Given the description of an element on the screen output the (x, y) to click on. 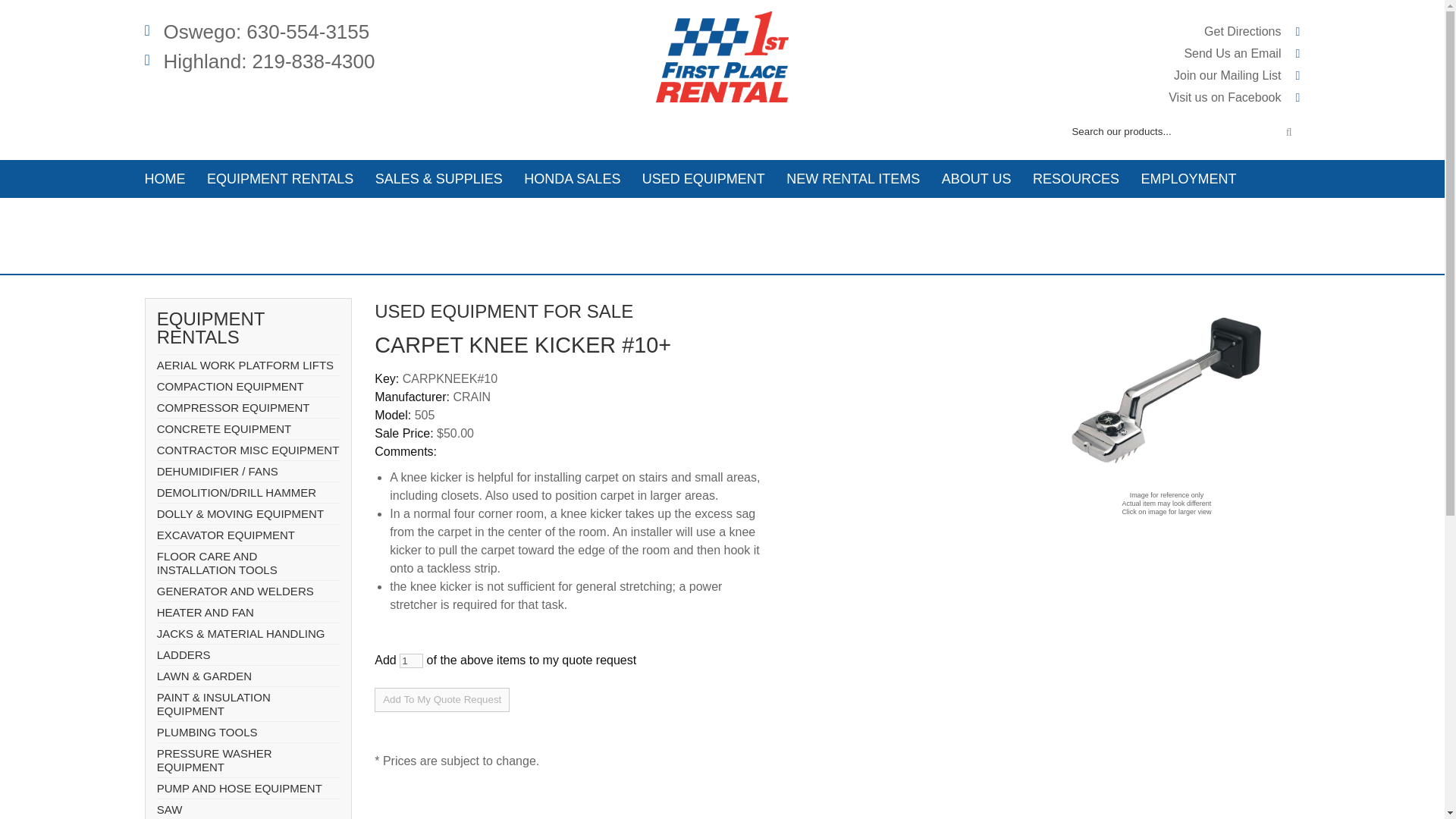
Highland: 219-838-4300 (259, 60)
Tel: 630-554-3155 (256, 31)
LADDERS (248, 654)
PLUMBING TOOLS (248, 731)
Contact Us (181, 216)
NEW RENTAL ITEMS (852, 178)
Job Openings at First Place Rental (1187, 178)
EXCAVATOR EQUIPMENT (248, 535)
FLOOR CARE AND INSTALLATION TOOLS (248, 563)
First Place Rental Feedback Form (1232, 52)
ABOUT US (976, 178)
EMPLOYMENT (1187, 178)
About Us (976, 178)
Send Us an Email (1232, 52)
Add To My Quote Request (441, 699)
